Given the description of an element on the screen output the (x, y) to click on. 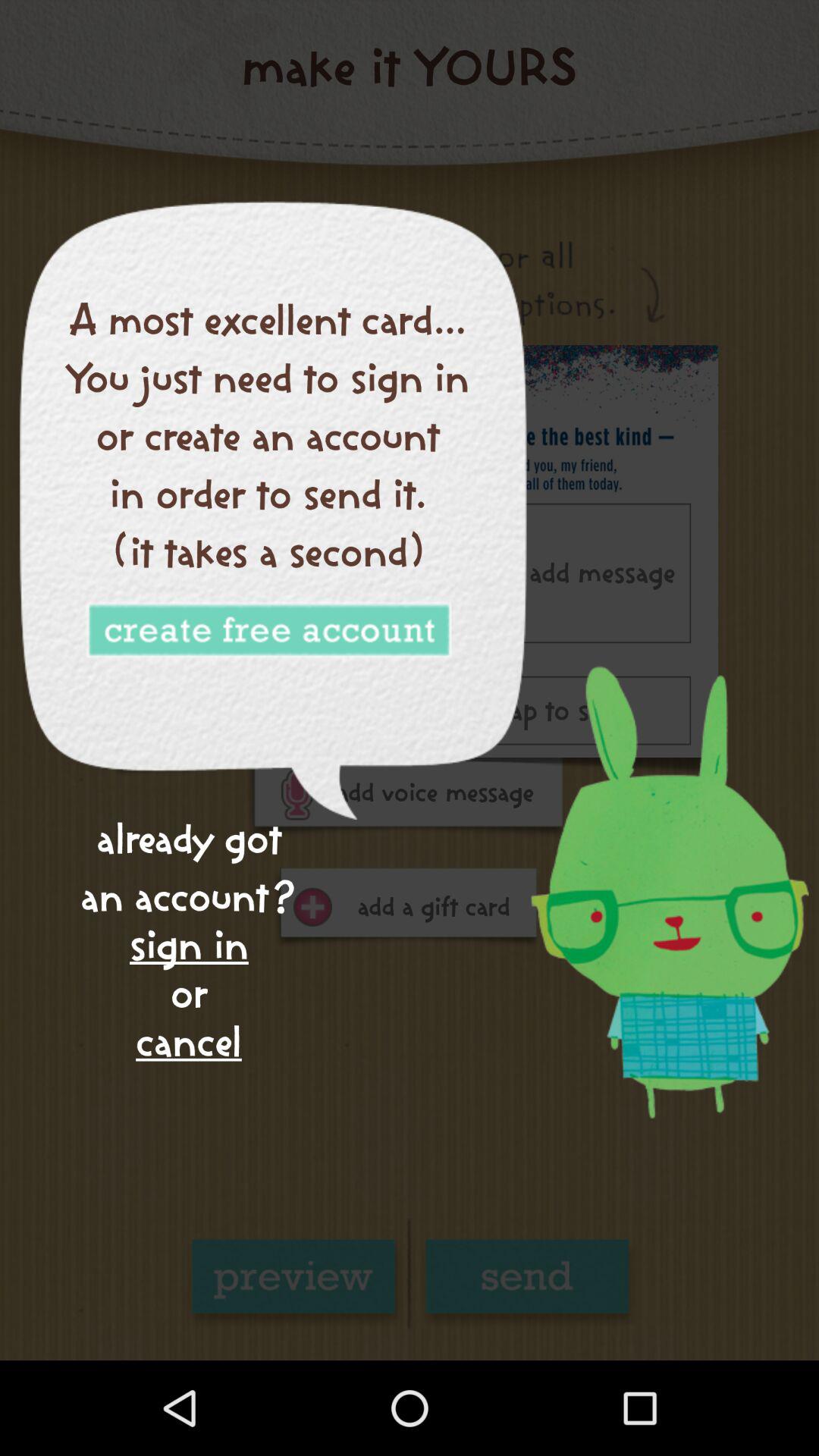
create free account (268, 630)
